Given the description of an element on the screen output the (x, y) to click on. 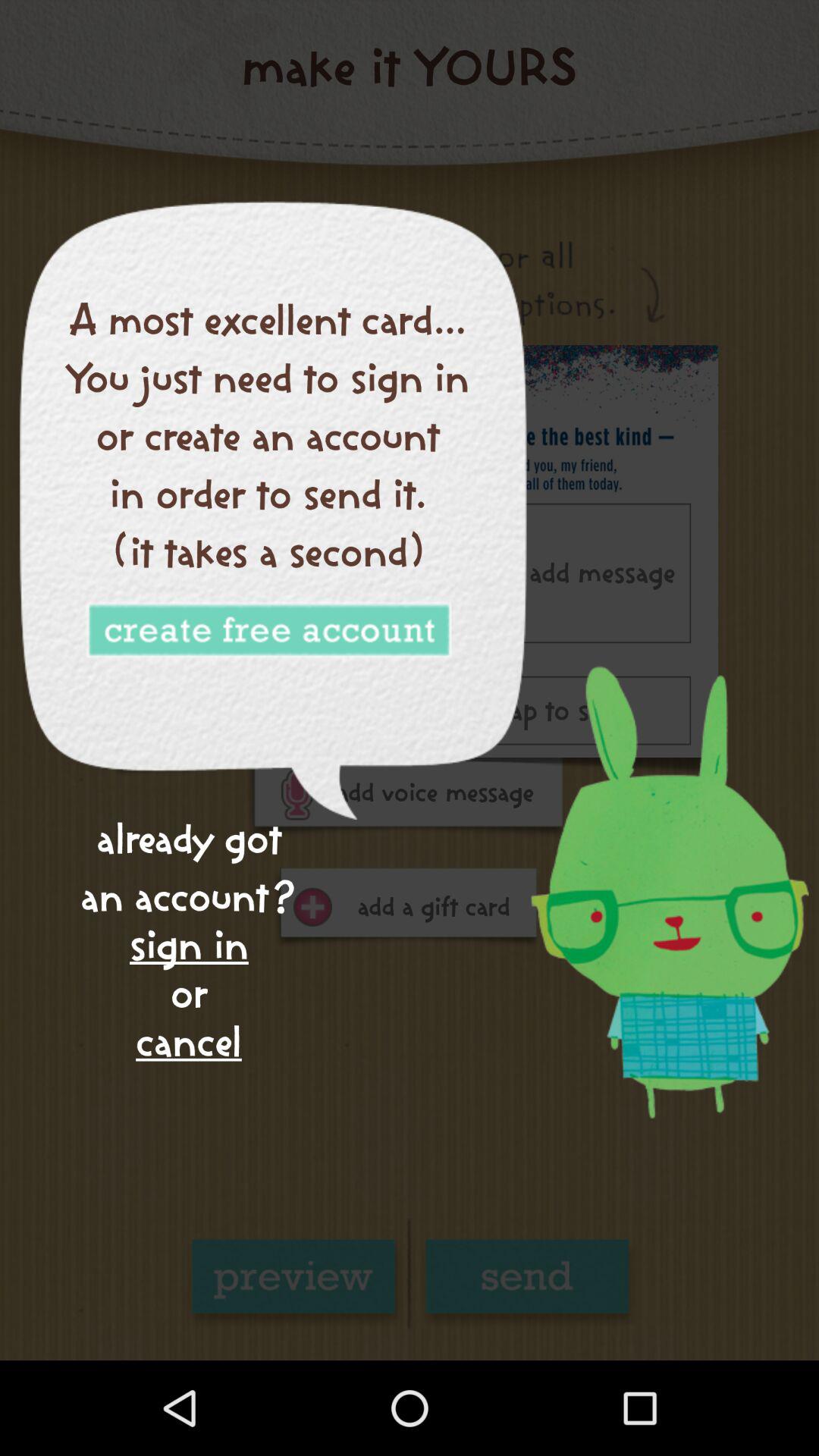
create free account (268, 630)
